Given the description of an element on the screen output the (x, y) to click on. 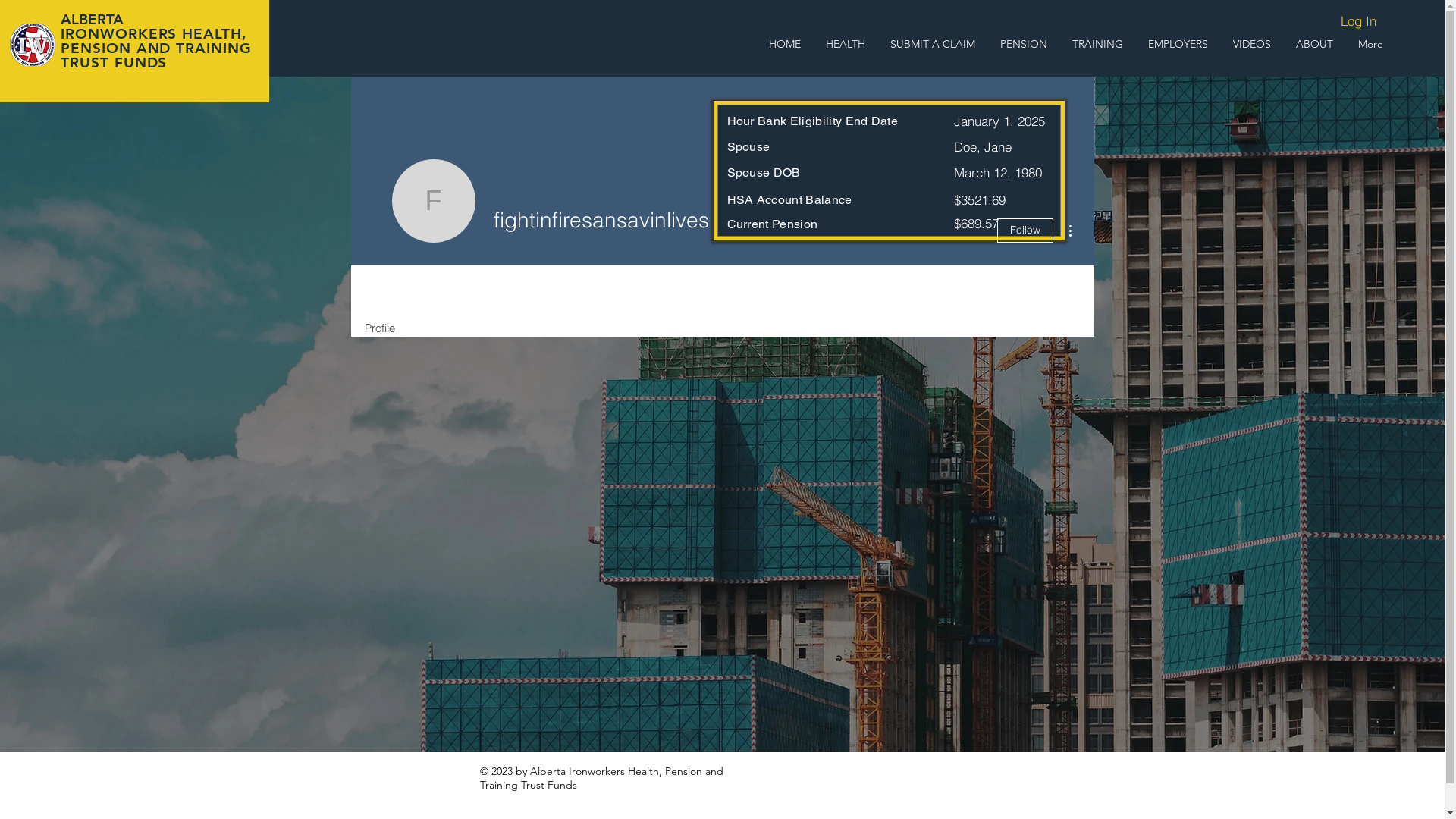
IRONWORKERS HEALTH, PENSION AND TRAINING TRUST FUNDS Element type: text (155, 48)
SUBMIT A CLAIM Element type: text (933, 44)
HOME Element type: text (784, 44)
ABOUT Element type: text (1314, 44)
Follow Element type: text (1024, 230)
Log In Element type: text (1351, 20)
VIDEOS Element type: text (1251, 44)
Profile Element type: text (378, 321)
